Given the description of an element on the screen output the (x, y) to click on. 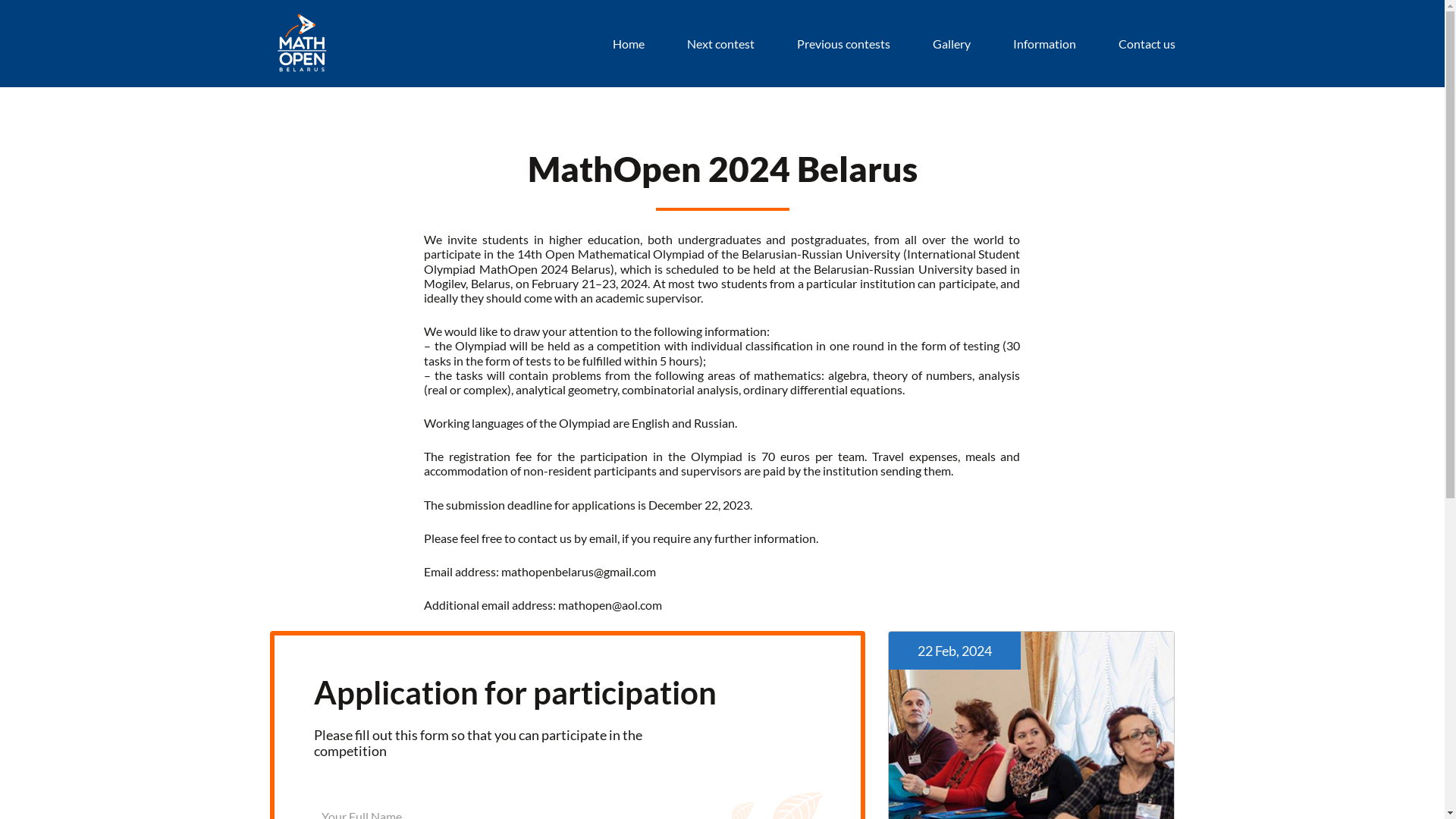
Next contest Element type: text (720, 43)
Home Element type: text (628, 43)
Gallery Element type: text (951, 43)
Contact us Element type: text (1145, 43)
Information Element type: text (1044, 43)
Previous contests Element type: text (842, 43)
